Given the description of an element on the screen output the (x, y) to click on. 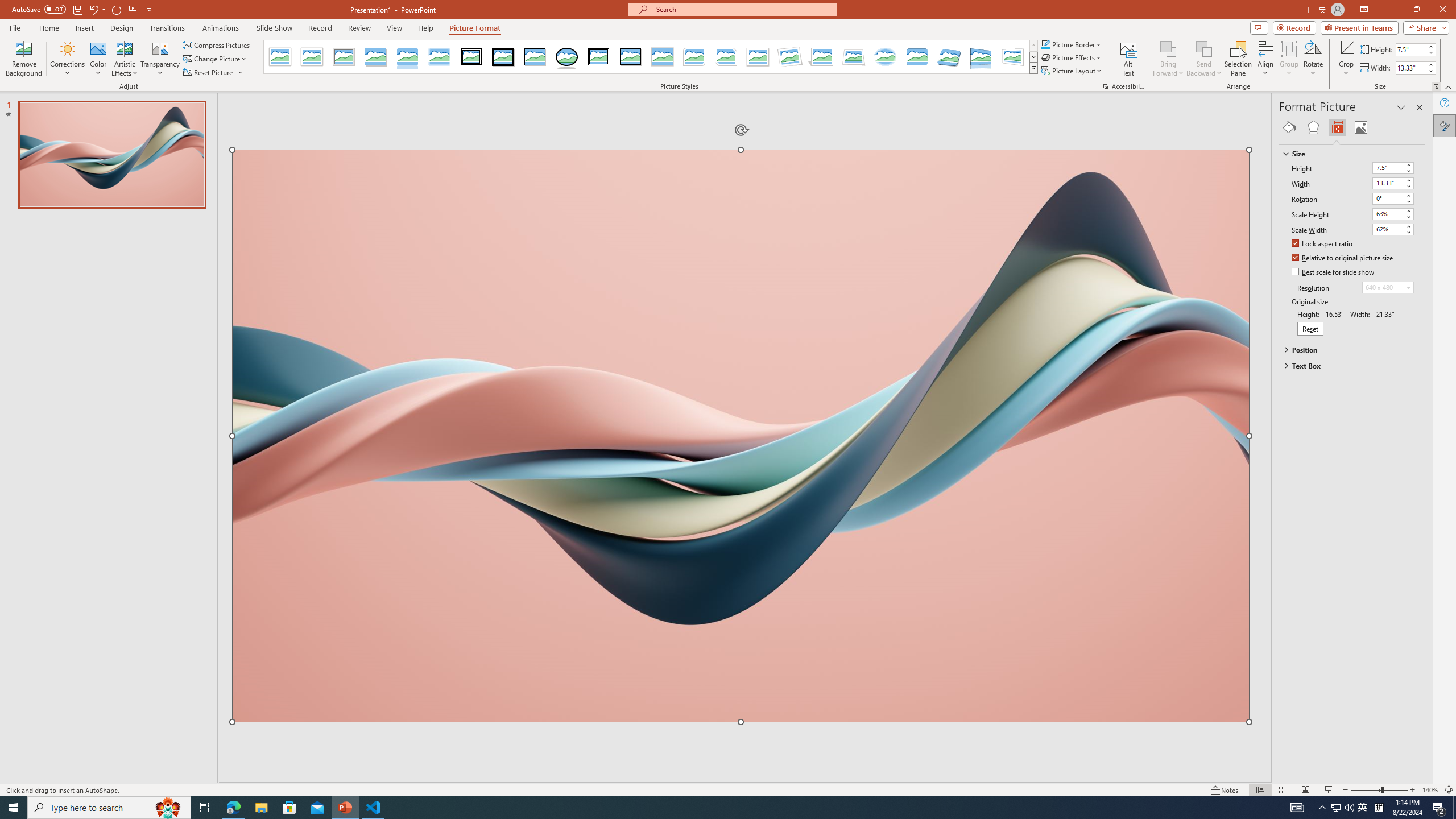
Height (1393, 167)
Simple Frame, White (280, 56)
Zoom In (1412, 790)
Present in Teams (1359, 27)
Home (48, 28)
Record (1294, 27)
Rotation (1388, 198)
Effects (1313, 126)
Redo (117, 9)
Rotation (1393, 198)
Quick Styles (1033, 67)
Zoom to Fit  (1449, 790)
Slide Show (273, 28)
Bring Forward (1168, 48)
